Given the description of an element on the screen output the (x, y) to click on. 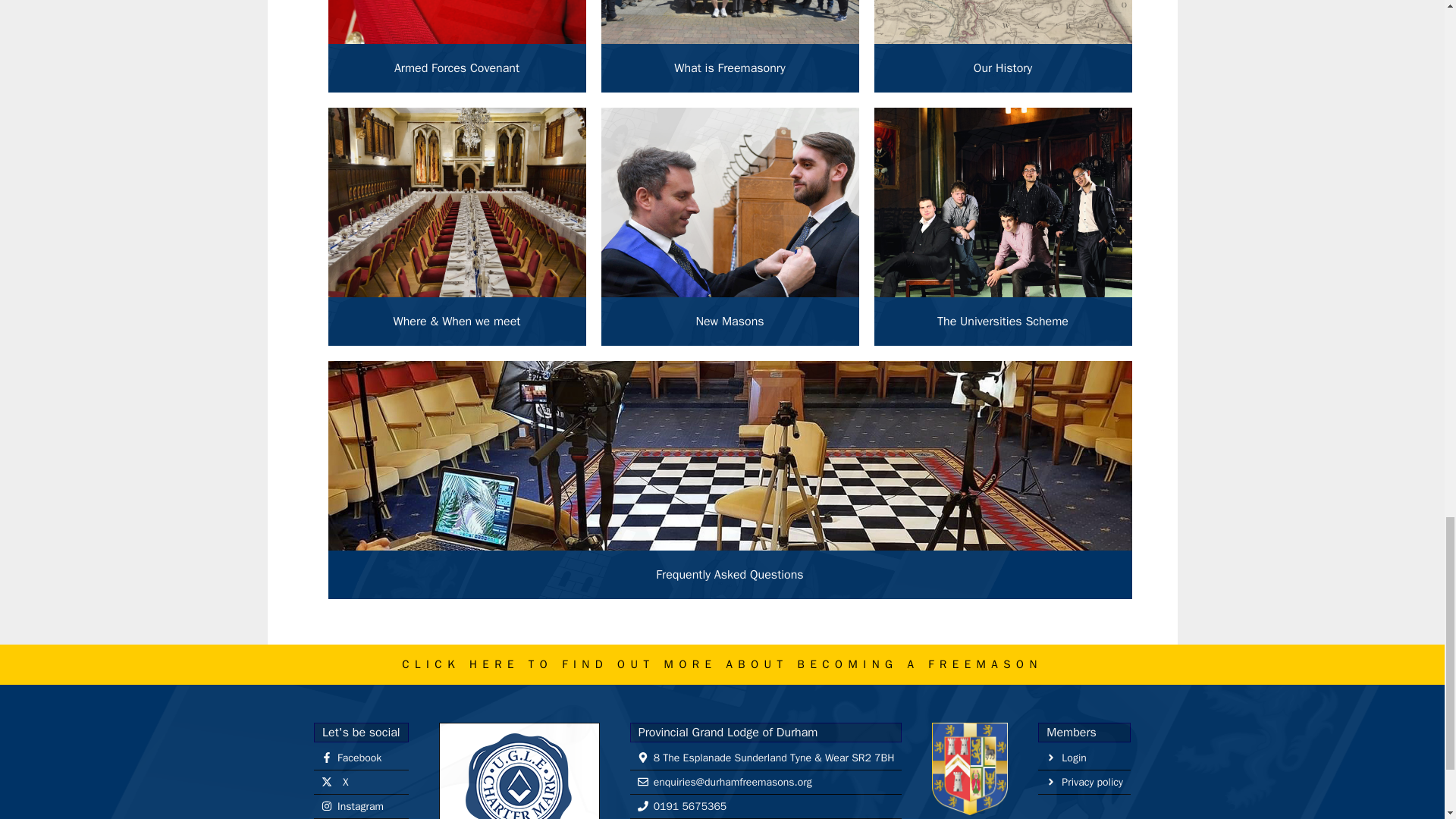
Durham Freemasons coat of arms (969, 768)
